Given the description of an element on the screen output the (x, y) to click on. 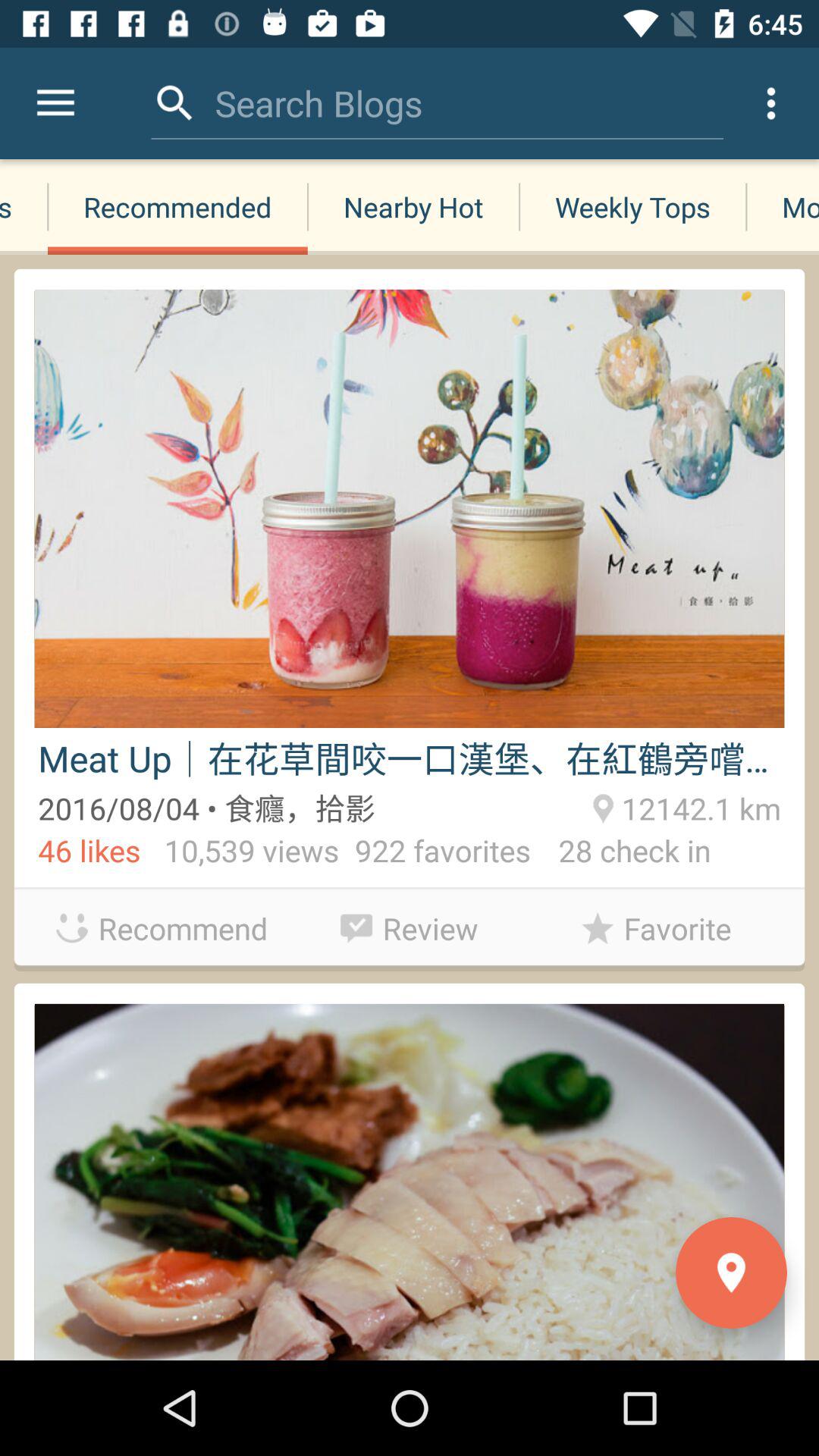
jump to new blogs item (23, 206)
